Given the description of an element on the screen output the (x, y) to click on. 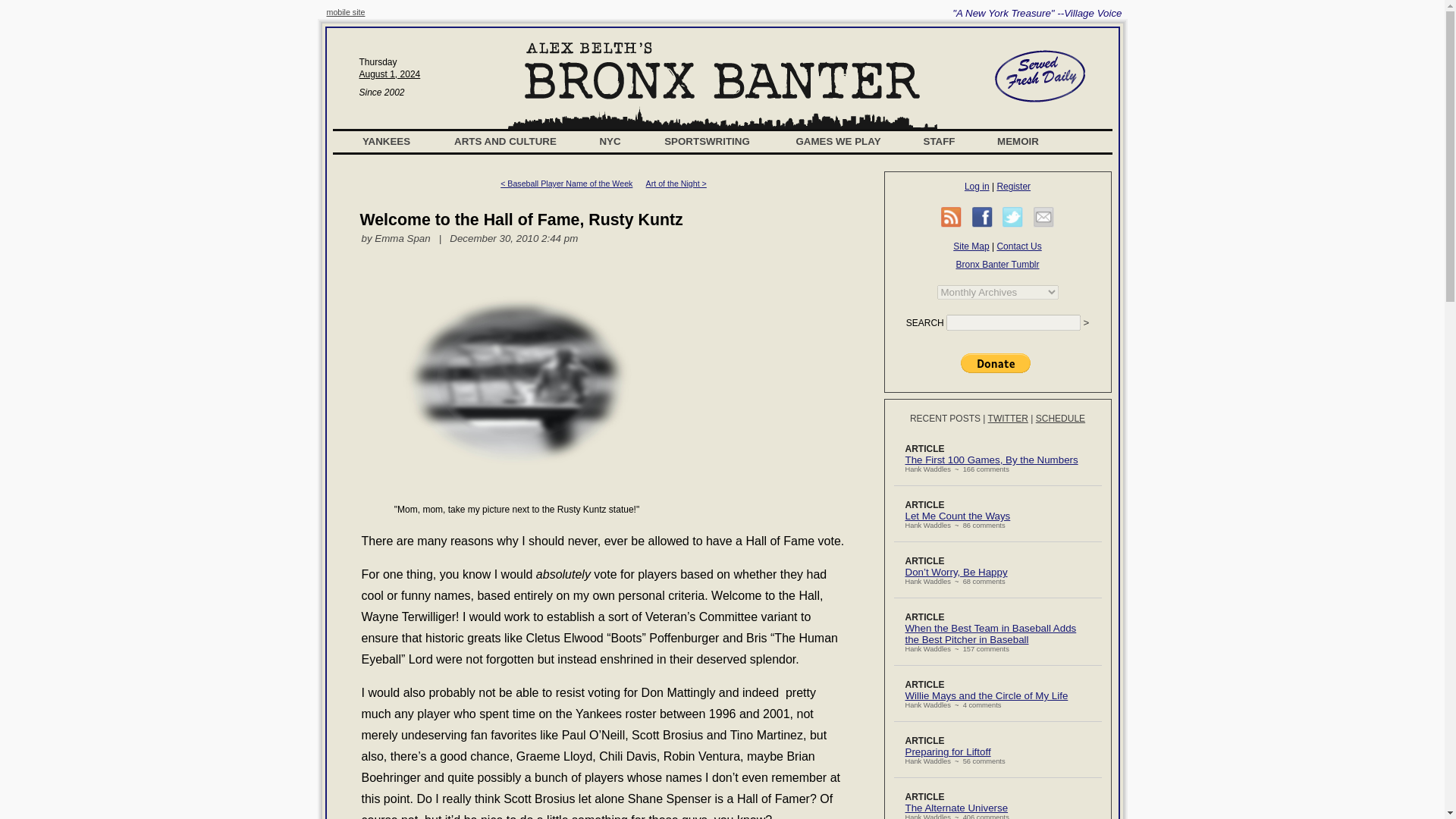
ARTS AND CULTURE (504, 141)
Subscription feed (950, 217)
HallofFame (516, 381)
Share on Facebook (982, 217)
NYC (610, 141)
mobile site (345, 11)
YANKEES (386, 141)
